Given the description of an element on the screen output the (x, y) to click on. 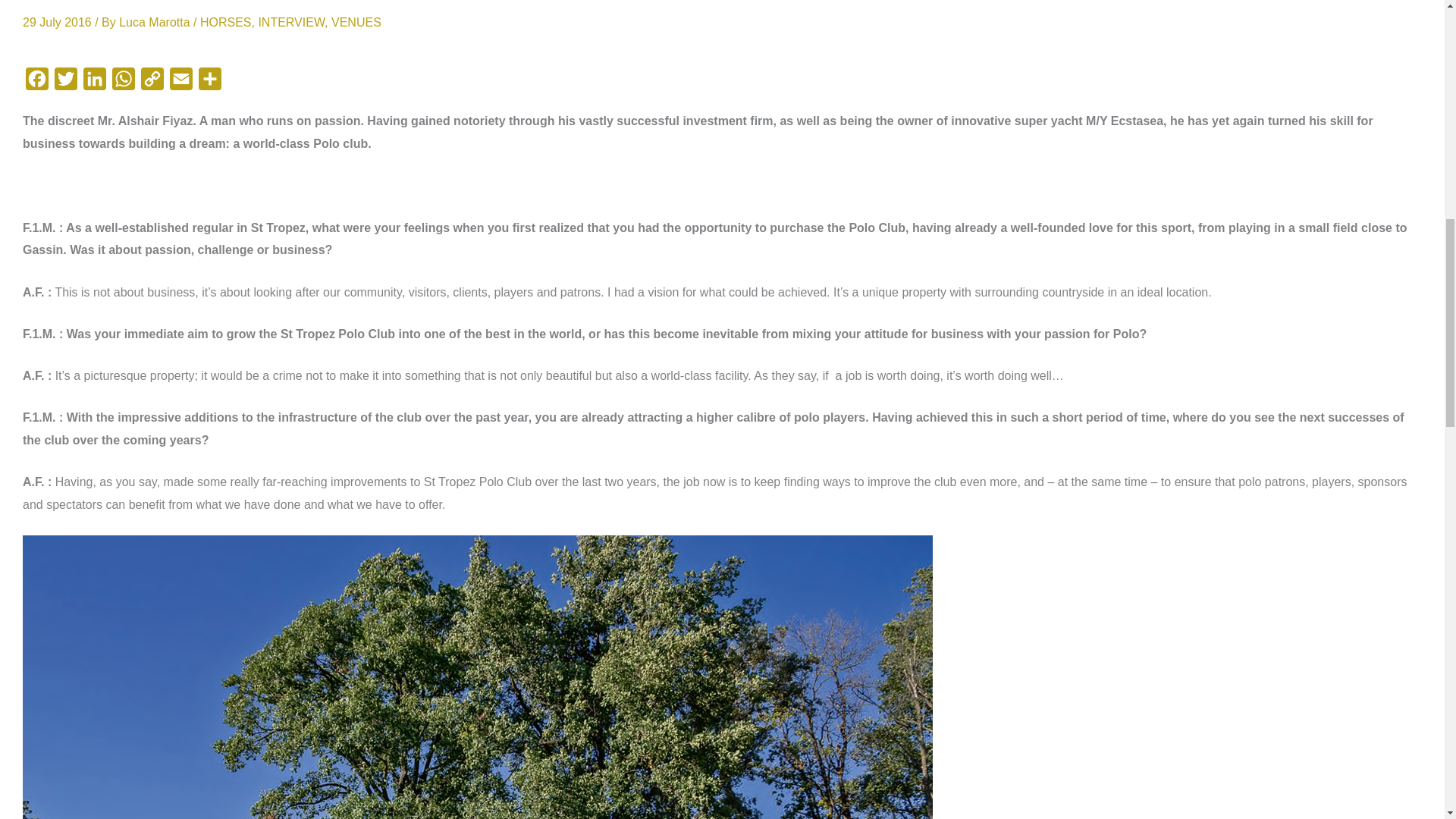
Copy Link (152, 82)
WhatsApp (123, 82)
View all posts by Luca Marotta (156, 21)
Twitter (65, 82)
Facebook (36, 82)
LinkedIn (94, 82)
LinkedIn (94, 82)
Twitter (65, 82)
VENUES (356, 21)
Email (181, 82)
